Given the description of an element on the screen output the (x, y) to click on. 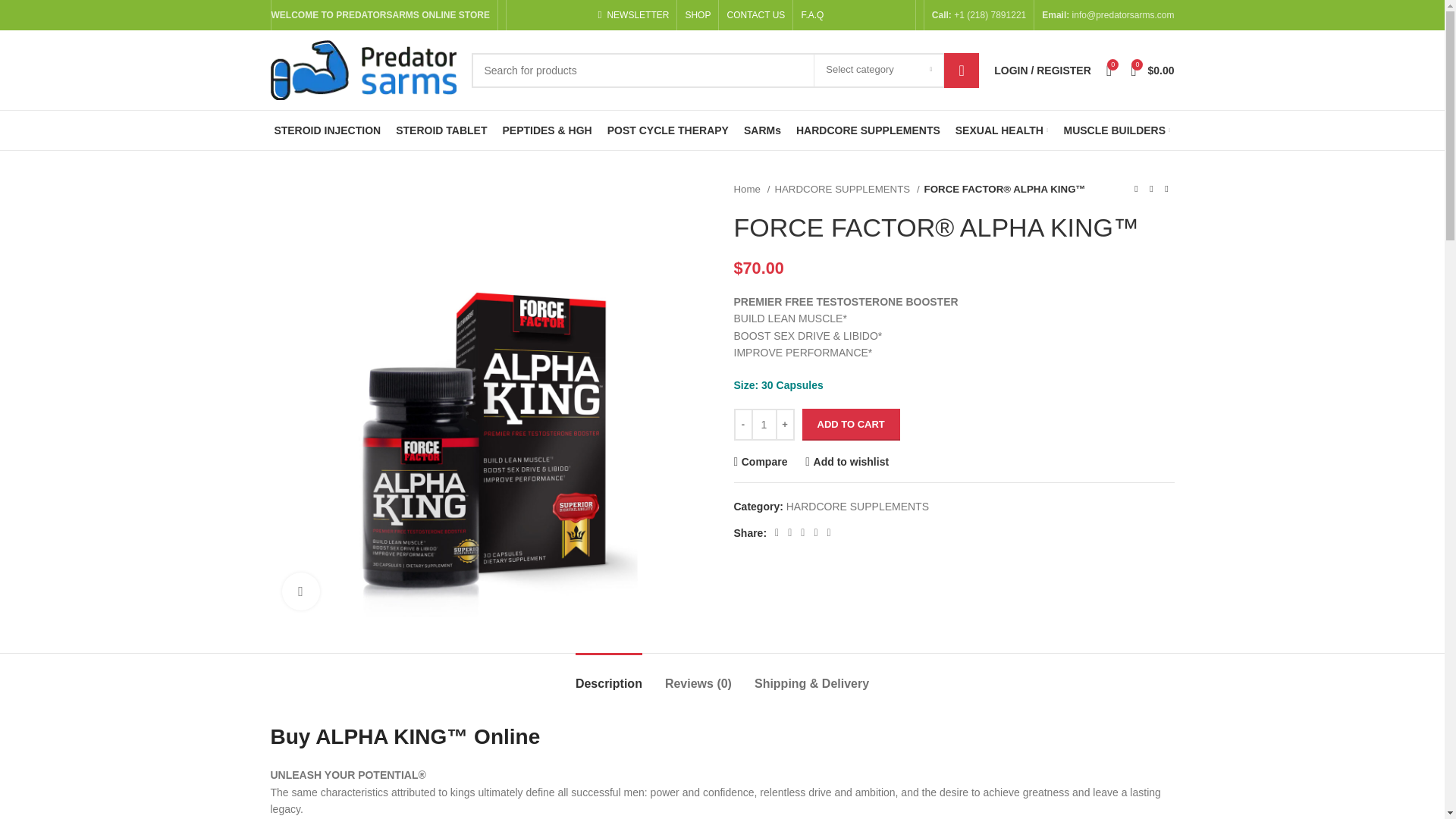
STEROID TABLET (441, 130)
Select category (878, 70)
SEXUAL HEALTH (1001, 130)
NEWSLETTER (632, 15)
Select category (878, 70)
Shopping cart (1151, 69)
CONTACT US (755, 15)
My account (1043, 69)
SARMs (762, 130)
HARDCORE SUPPLEMENTS (868, 130)
STEROID INJECTION (326, 130)
Search (960, 70)
Search for products (725, 70)
POST CYCLE THERAPY (668, 130)
MUSCLE BUILDERS (1116, 130)
